Given the description of an element on the screen output the (x, y) to click on. 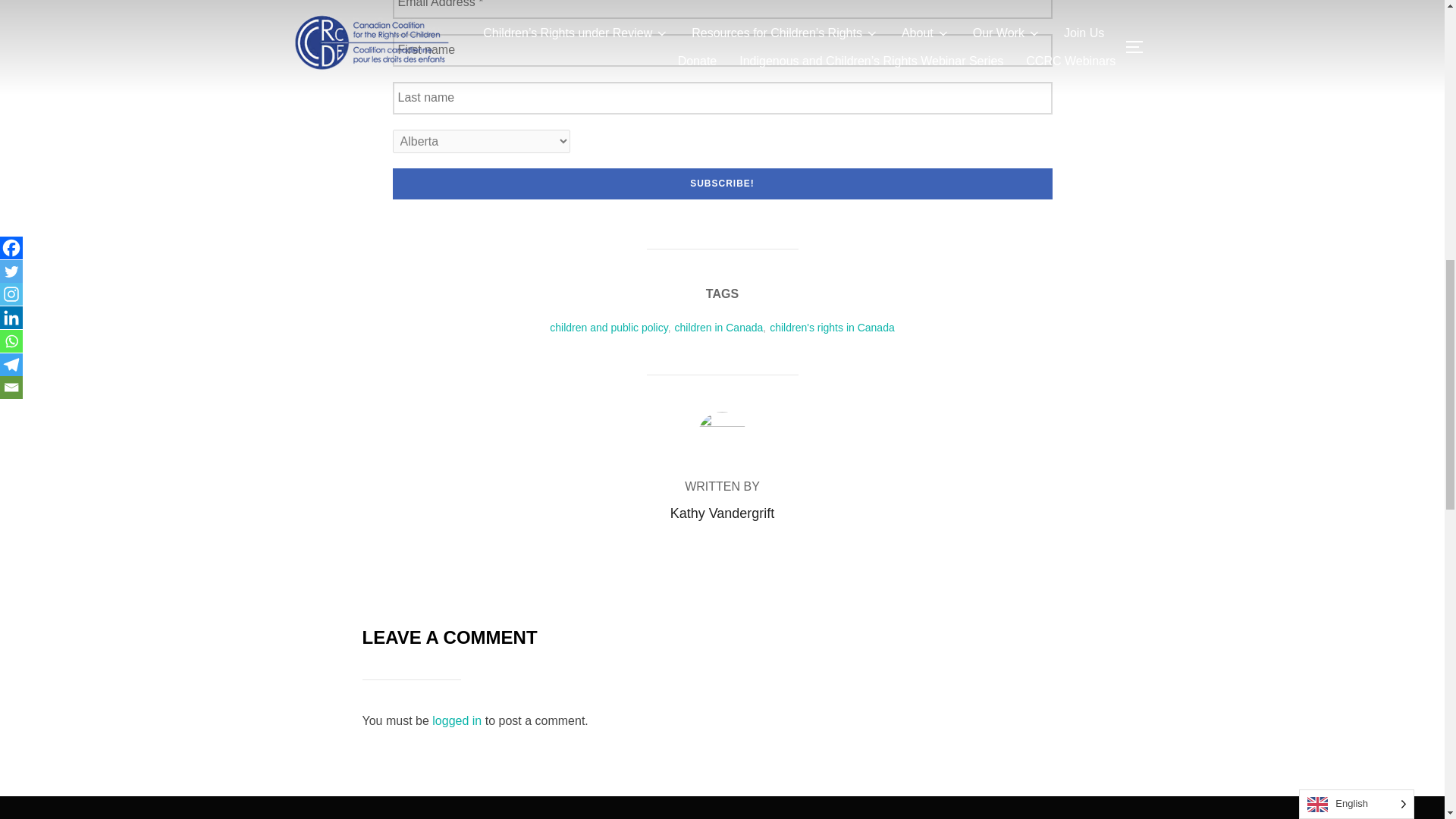
First name (722, 50)
Subscribe! (722, 183)
Last name (722, 97)
Email Address (722, 9)
